Given the description of an element on the screen output the (x, y) to click on. 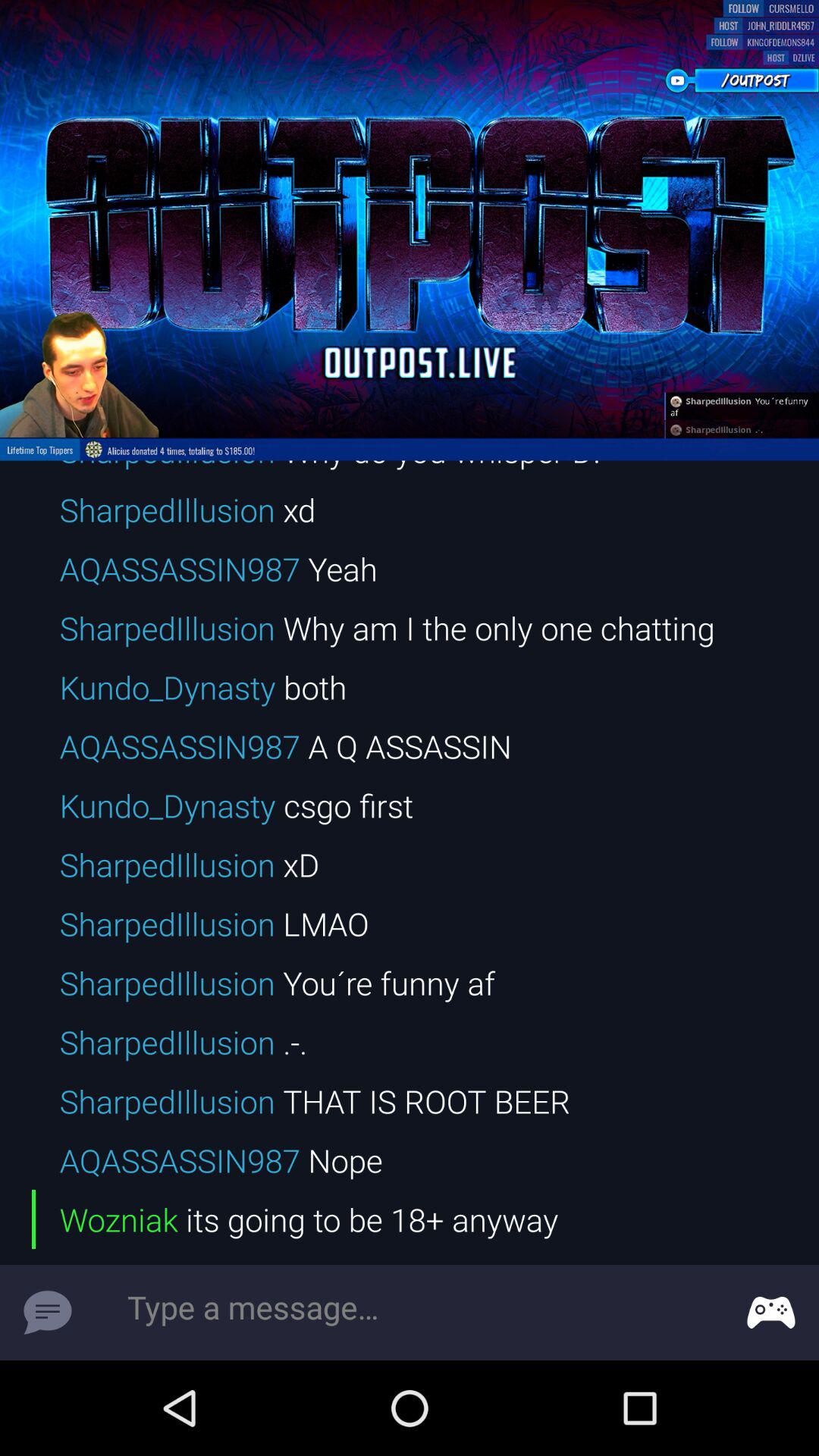
message (47, 1312)
